Given the description of an element on the screen output the (x, y) to click on. 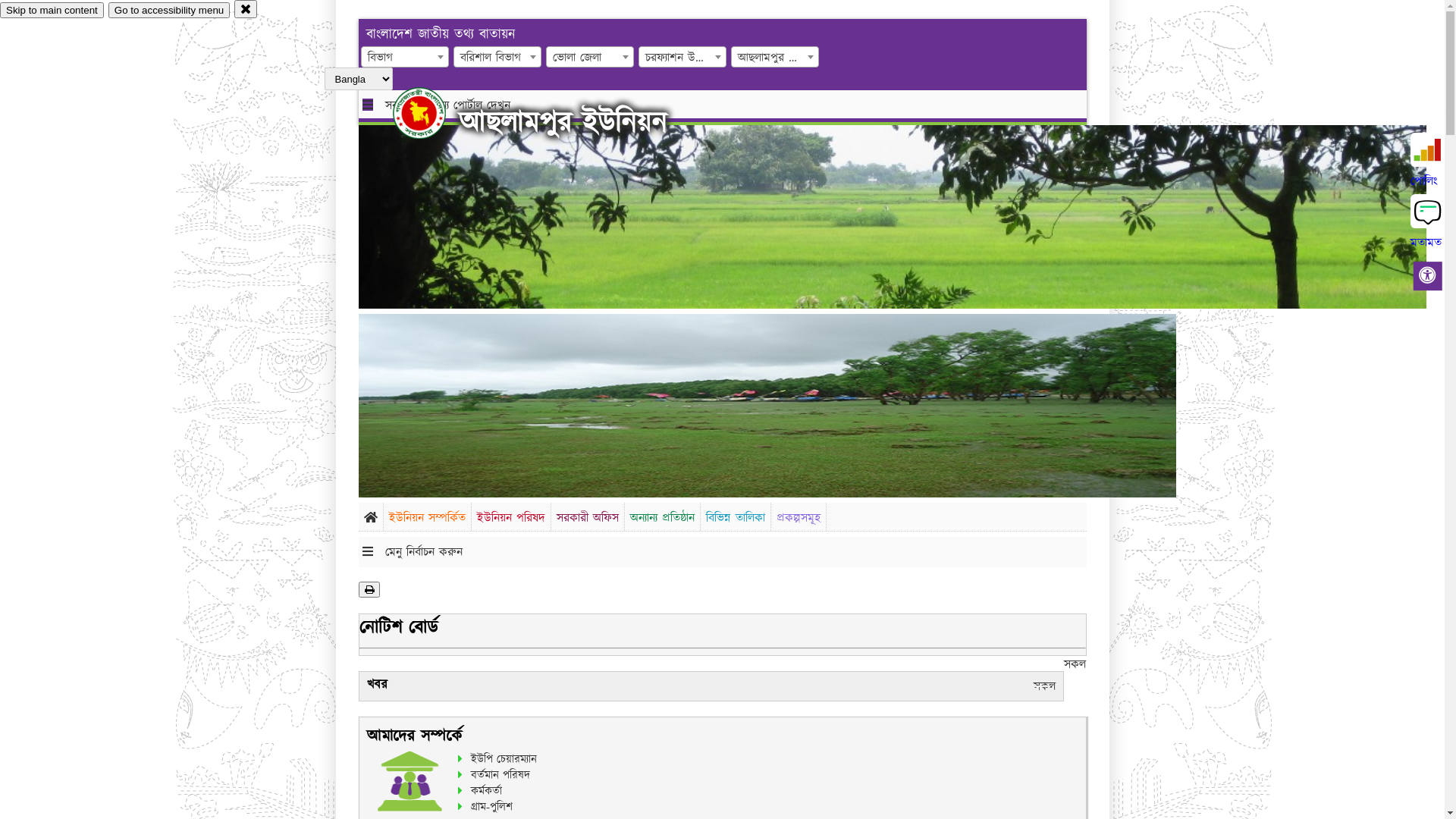

                
             Element type: hover (431, 112)
Go to accessibility menu Element type: text (168, 10)
close Element type: hover (245, 9)
Skip to main content Element type: text (51, 10)
